Given the description of an element on the screen output the (x, y) to click on. 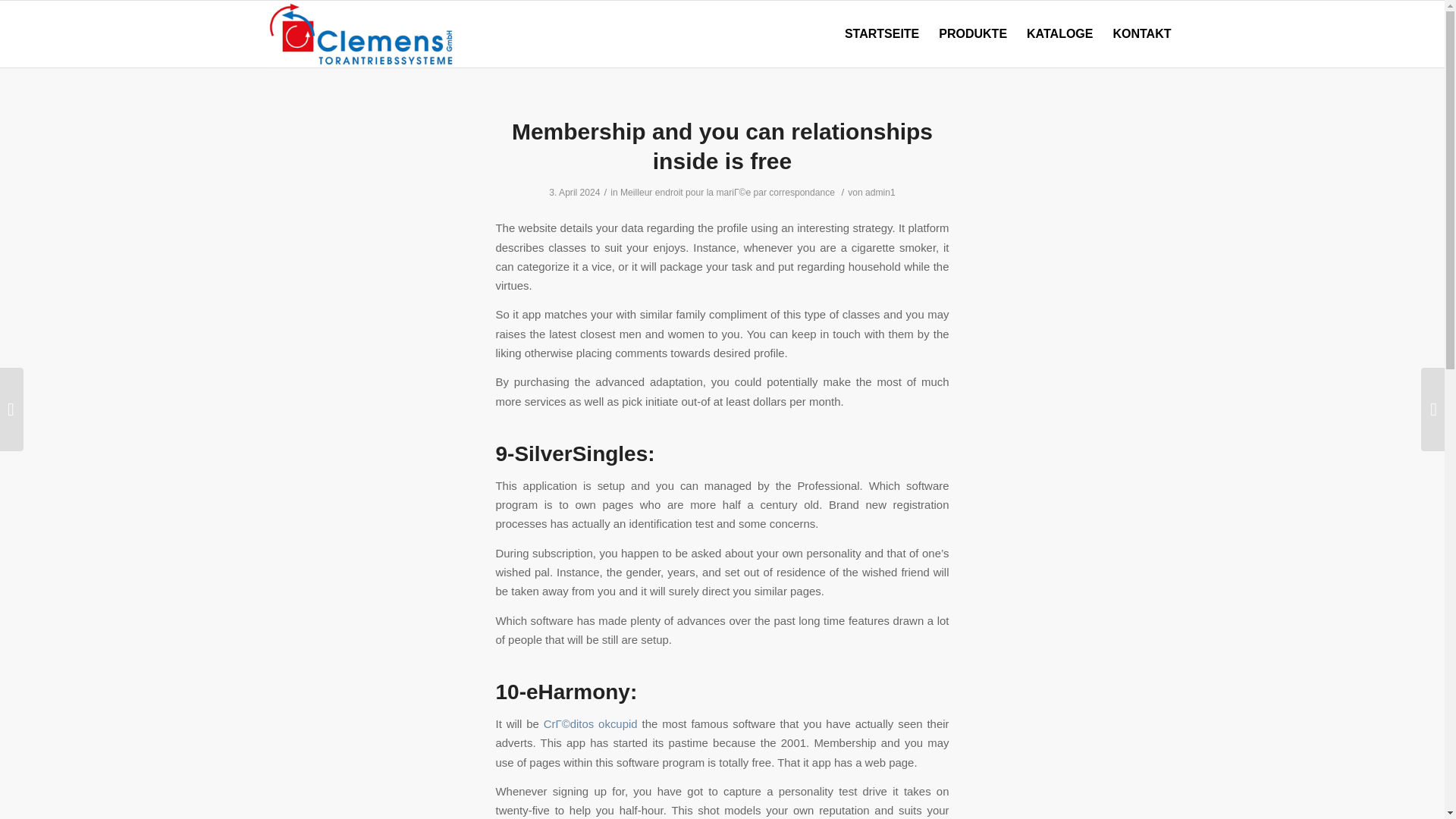
KATALOGE (1059, 33)
PRODUKTE (972, 33)
STARTSEITE (881, 33)
admin1 (879, 192)
Membership and you can relationships inside is free (722, 145)
KONTAKT (1141, 33)
